Given the description of an element on the screen output the (x, y) to click on. 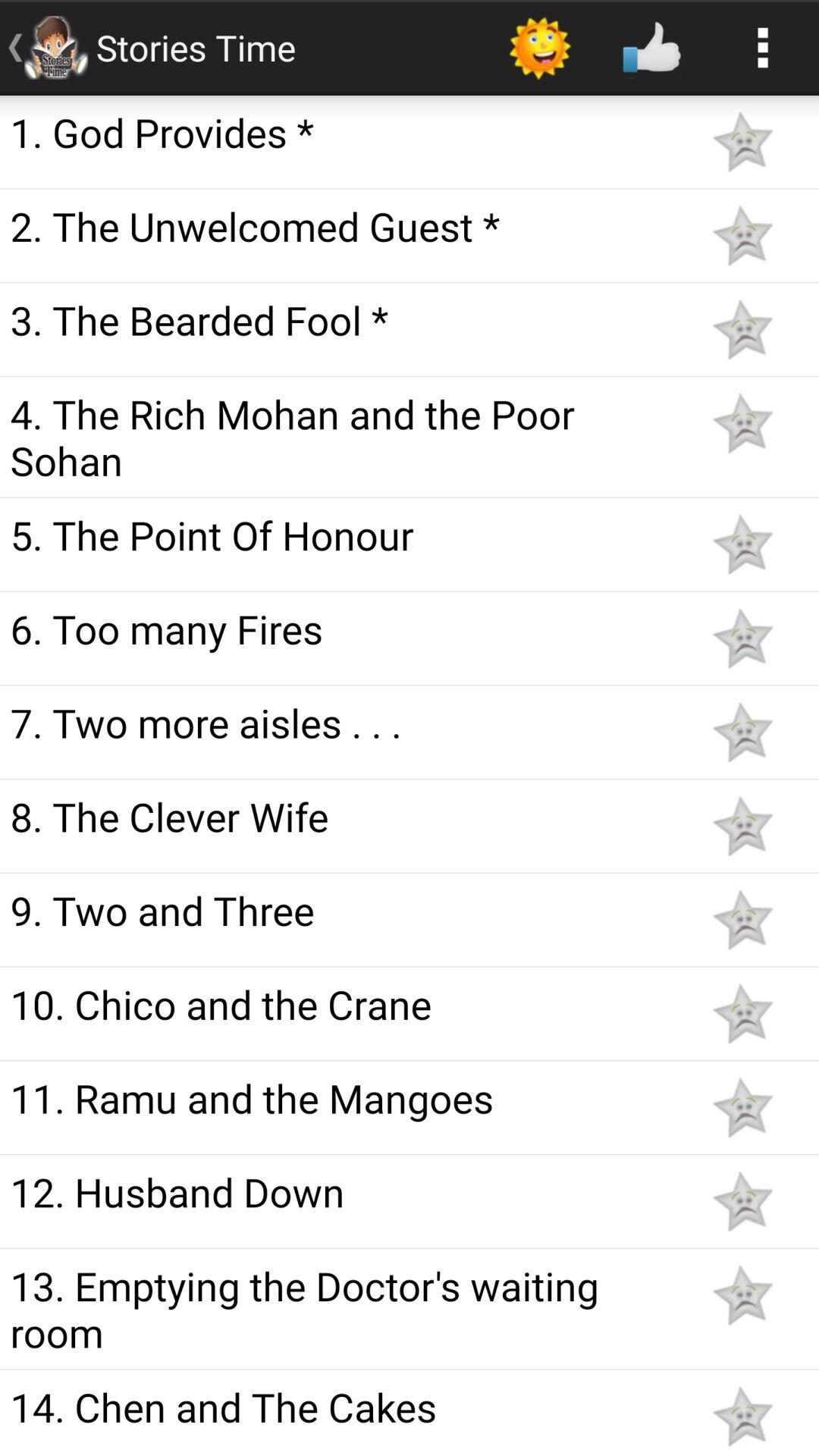
bookmark the story (742, 732)
